Given the description of an element on the screen output the (x, y) to click on. 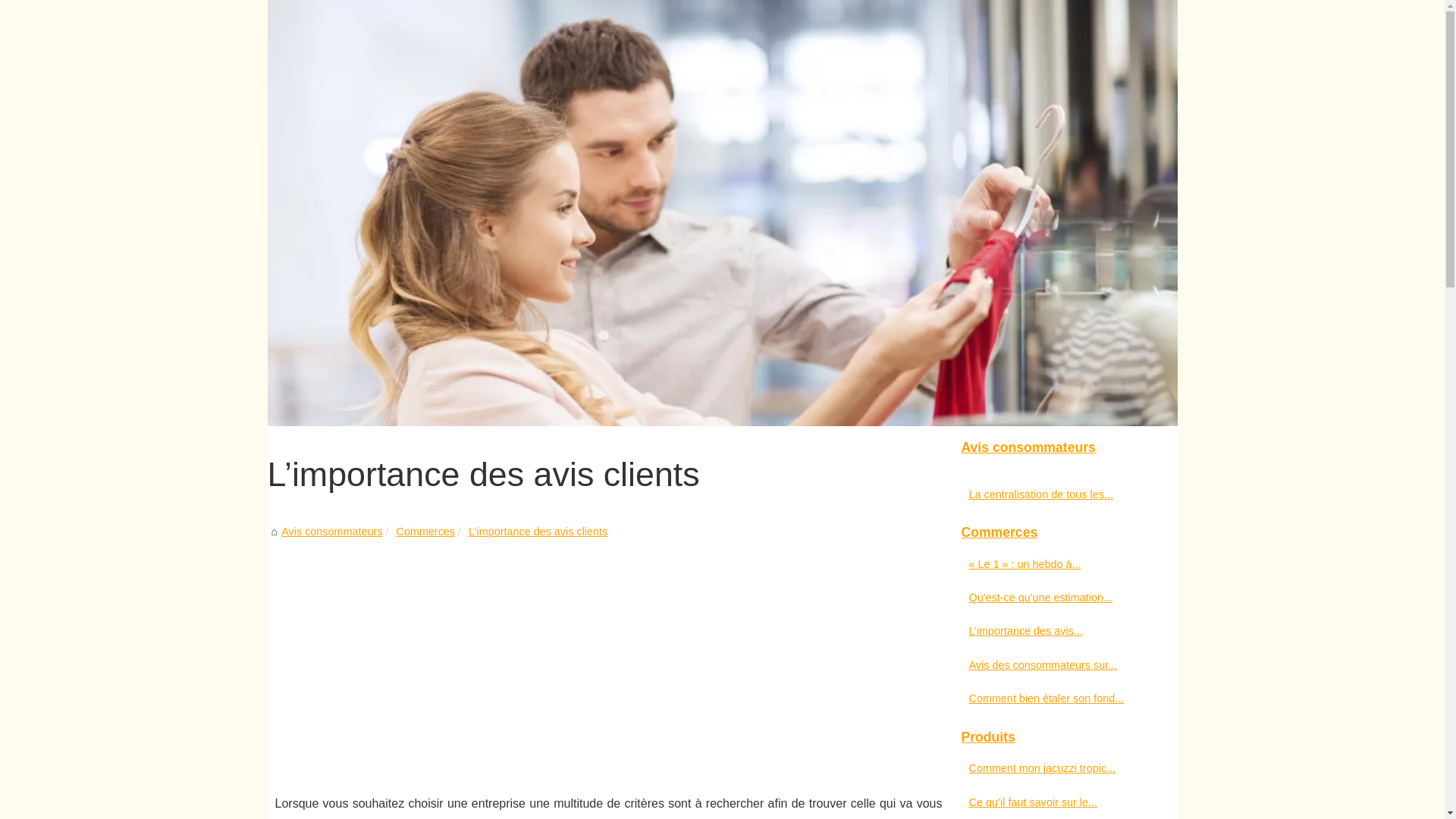
Commerces Element type: text (425, 531)
Advertisement Element type: hover (607, 655)
La centralisation de tous les... Element type: text (1055, 494)
Avis consommateurs Element type: hover (721, 213)
Avis des consommateurs sur... Element type: text (1055, 664)
Avis consommateurs Element type: text (1063, 447)
Commerces Element type: text (1063, 532)
Qu'est-ce qu'une estimation... Element type: text (1055, 597)
Avis consommateurs Element type: text (331, 531)
Comment mon jacuzzi tropic... Element type: text (1055, 768)
Produits Element type: text (1063, 737)
